Given the description of an element on the screen output the (x, y) to click on. 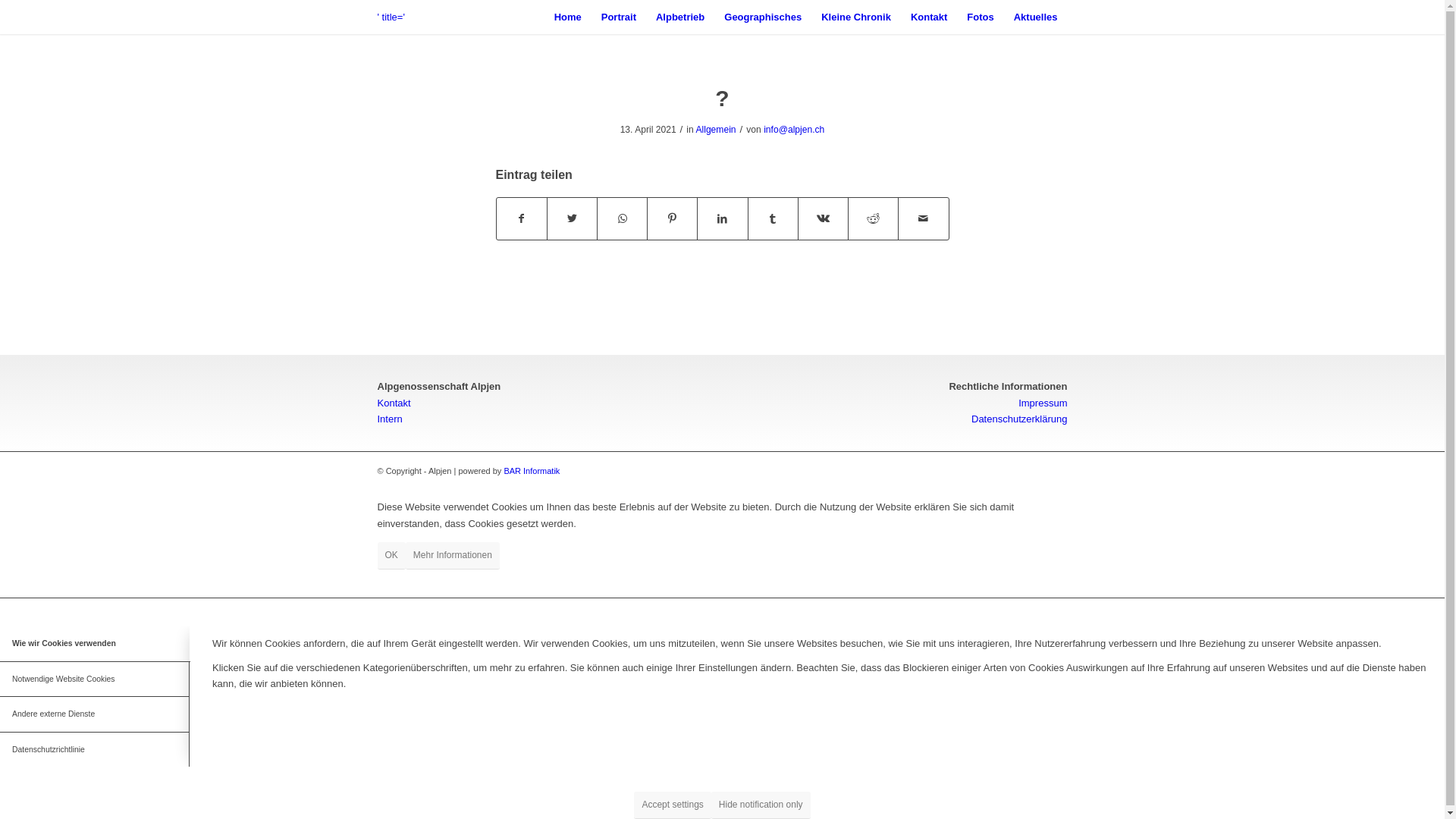
Mehr Informationen Element type: text (452, 555)
Alpbetrieb Element type: text (680, 17)
' title='
'> Element type: text (414, 17)
Aktuelles Element type: text (1035, 17)
Geographisches Element type: text (762, 17)
Accept settings Element type: text (671, 804)
Fotos Element type: text (980, 17)
Home Element type: text (567, 17)
Allgemein Element type: text (715, 129)
Portrait Element type: text (618, 17)
Intern Element type: text (389, 418)
OK Element type: text (391, 555)
Kontakt Element type: text (394, 402)
Impressum Element type: text (1042, 402)
BAR Informatik Element type: text (531, 470)
Kontakt Element type: text (928, 17)
Hide notification only Element type: text (760, 804)
Kleine Chronik Element type: text (855, 17)
info@alpjen.ch Element type: text (793, 129)
